Given the description of an element on the screen output the (x, y) to click on. 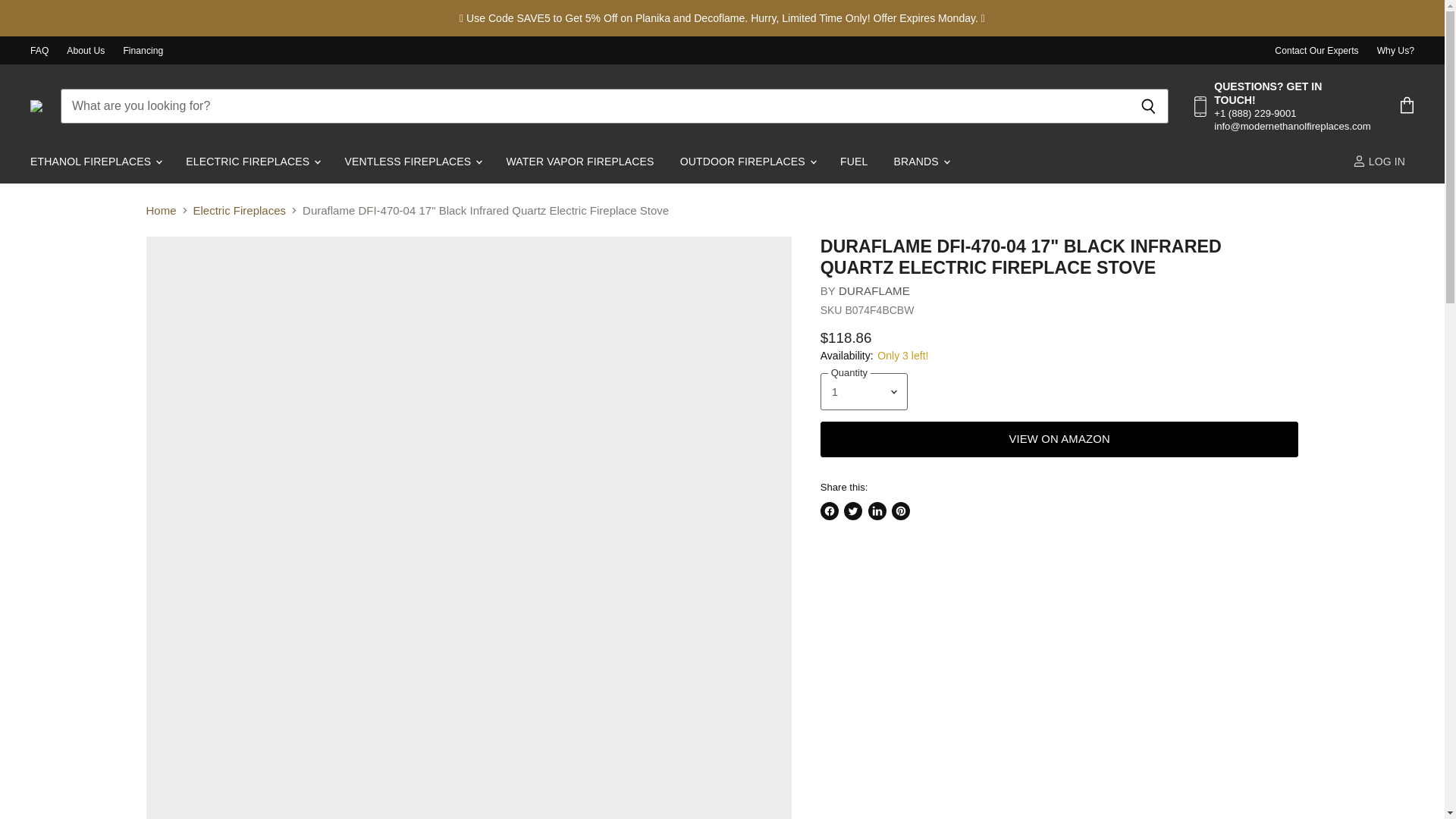
ELECTRIC FIREPLACES (252, 161)
Duraflame (874, 290)
ACCOUNT ICON (1358, 160)
Why Us? (1395, 50)
Financing (142, 50)
FAQ (39, 50)
Contact Our Experts (1316, 50)
About Us (85, 50)
ETHANOL FIREPLACES (94, 161)
